Given the description of an element on the screen output the (x, y) to click on. 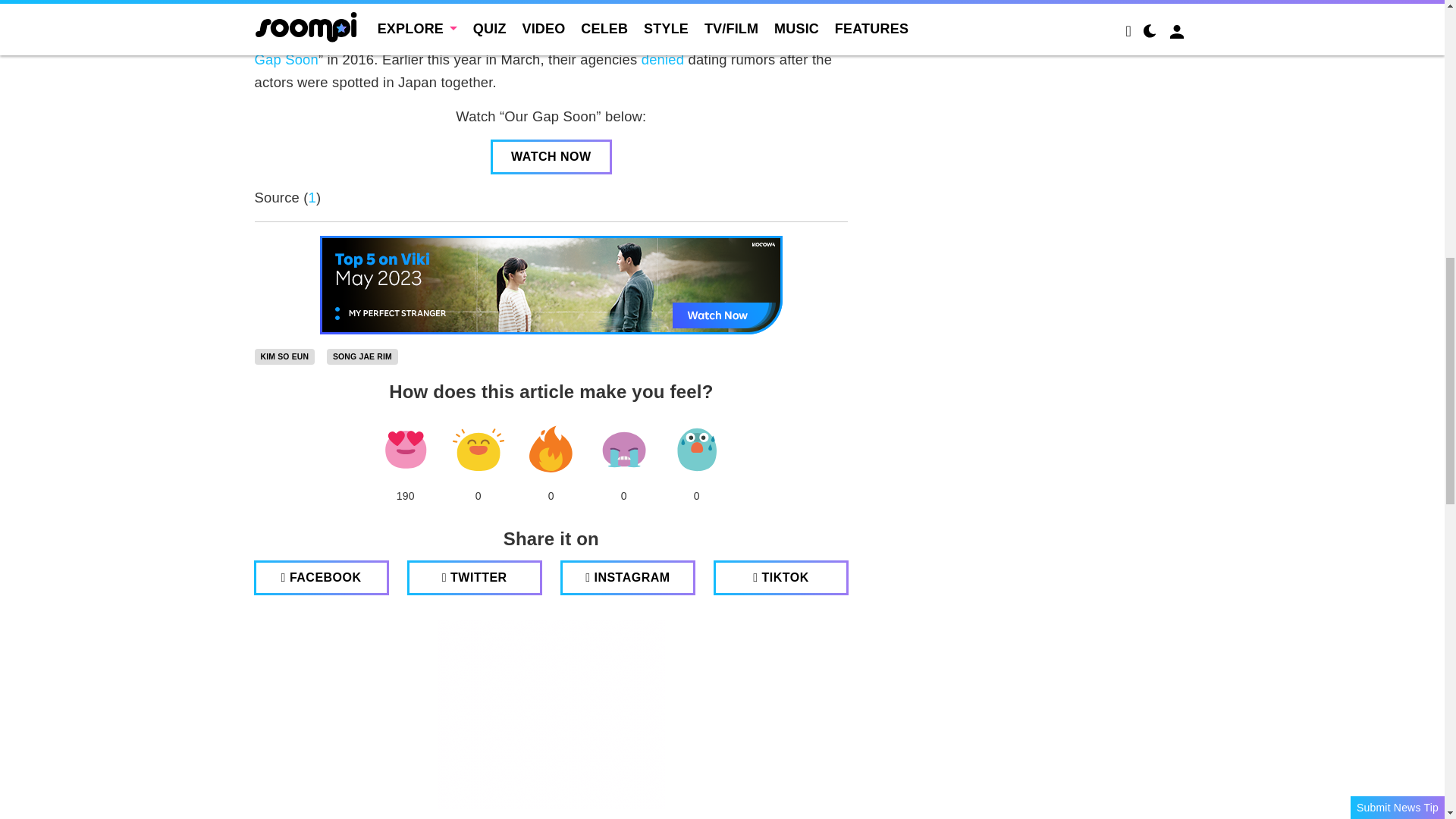
LOL (478, 449)
WATCH NOW (550, 156)
We Got Married (309, 37)
3rd party ad content (551, 714)
KIM SO EUN (284, 356)
Our Gap Soon (539, 48)
Song Jae Rim (361, 356)
Heart (405, 449)
SONG JAE RIM (361, 356)
OMG (696, 449)
